Given the description of an element on the screen output the (x, y) to click on. 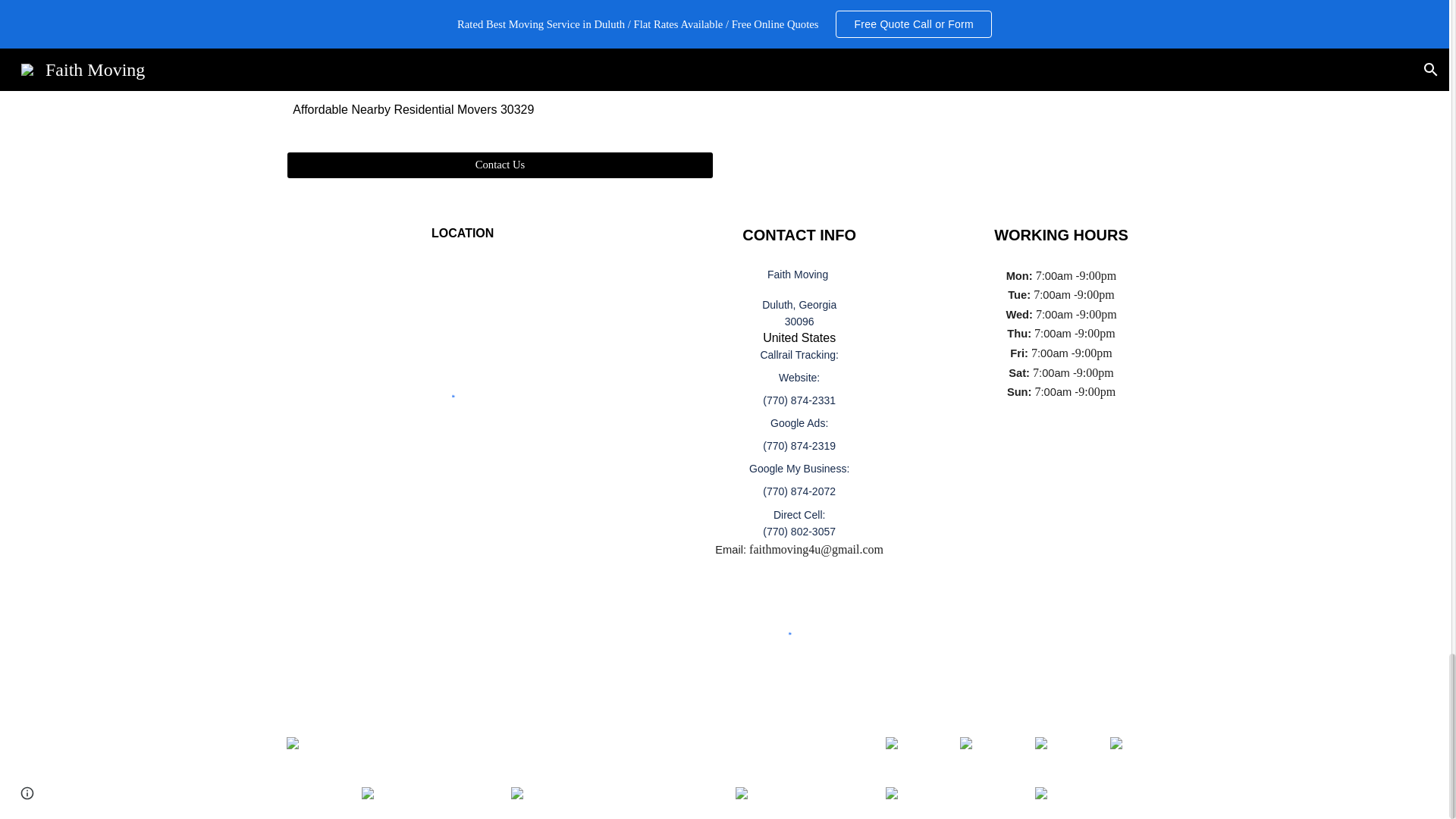
Custom embed (462, 397)
